Given the description of an element on the screen output the (x, y) to click on. 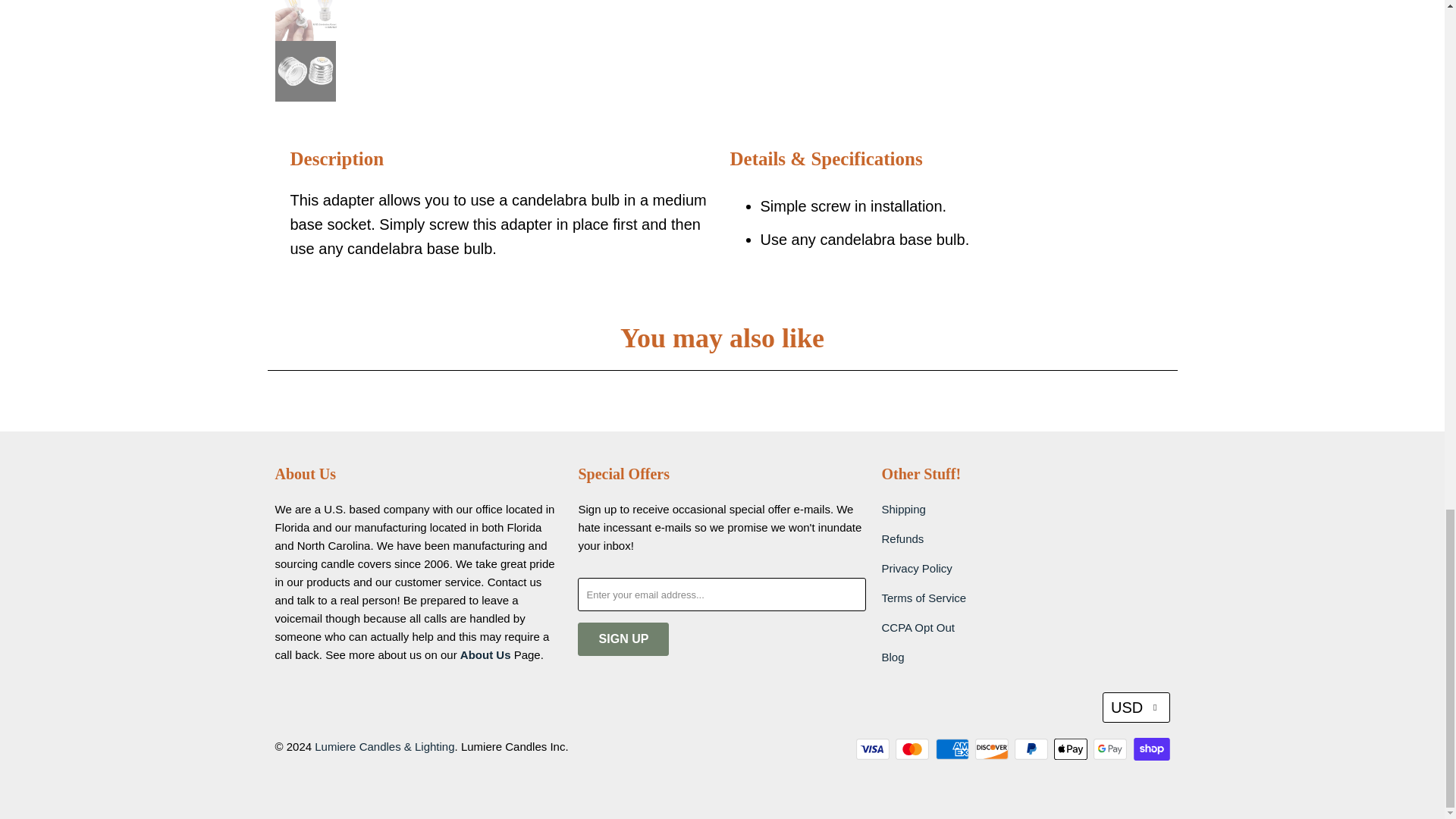
Shop Pay (1150, 748)
Mastercard (913, 748)
Visa (874, 748)
About Us (485, 654)
Sign Up (623, 639)
Apple Pay (1072, 748)
Google Pay (1111, 748)
Discover (993, 748)
American Express (954, 748)
PayPal (1032, 748)
